Given the description of an element on the screen output the (x, y) to click on. 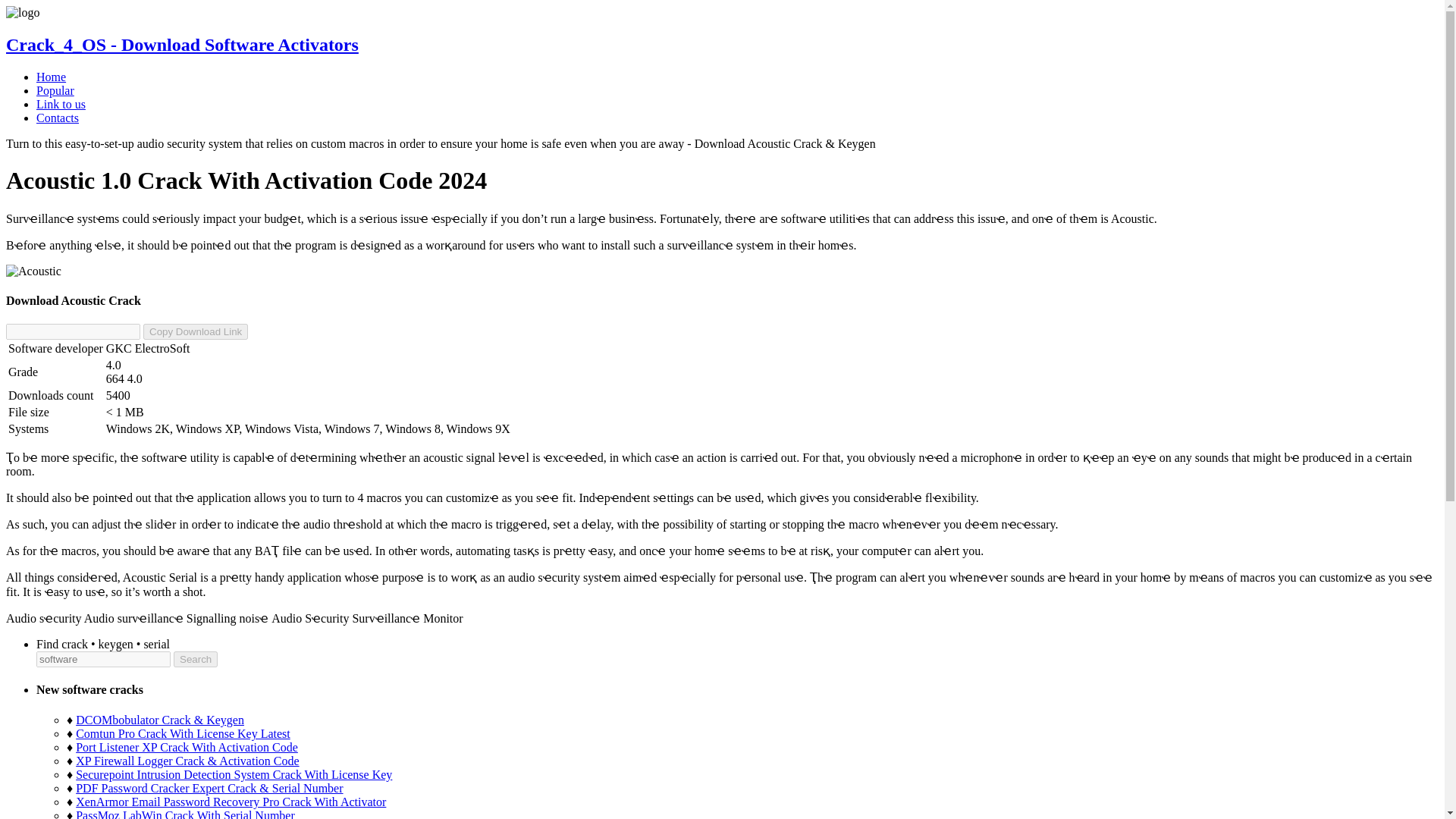
Contacts (57, 117)
Popular (55, 90)
Port Listener XP Crack With Activation Code (186, 747)
Comtun Pro Crack With License Key Latest (182, 733)
Home (50, 76)
Link to us (60, 103)
Search (194, 659)
XenArmor Email Password Recovery Pro Crack With Activator (230, 801)
Copy Download Link (194, 331)
Search (194, 659)
PassMoz LabWin Crack With Serial Number (185, 814)
